Given the description of an element on the screen output the (x, y) to click on. 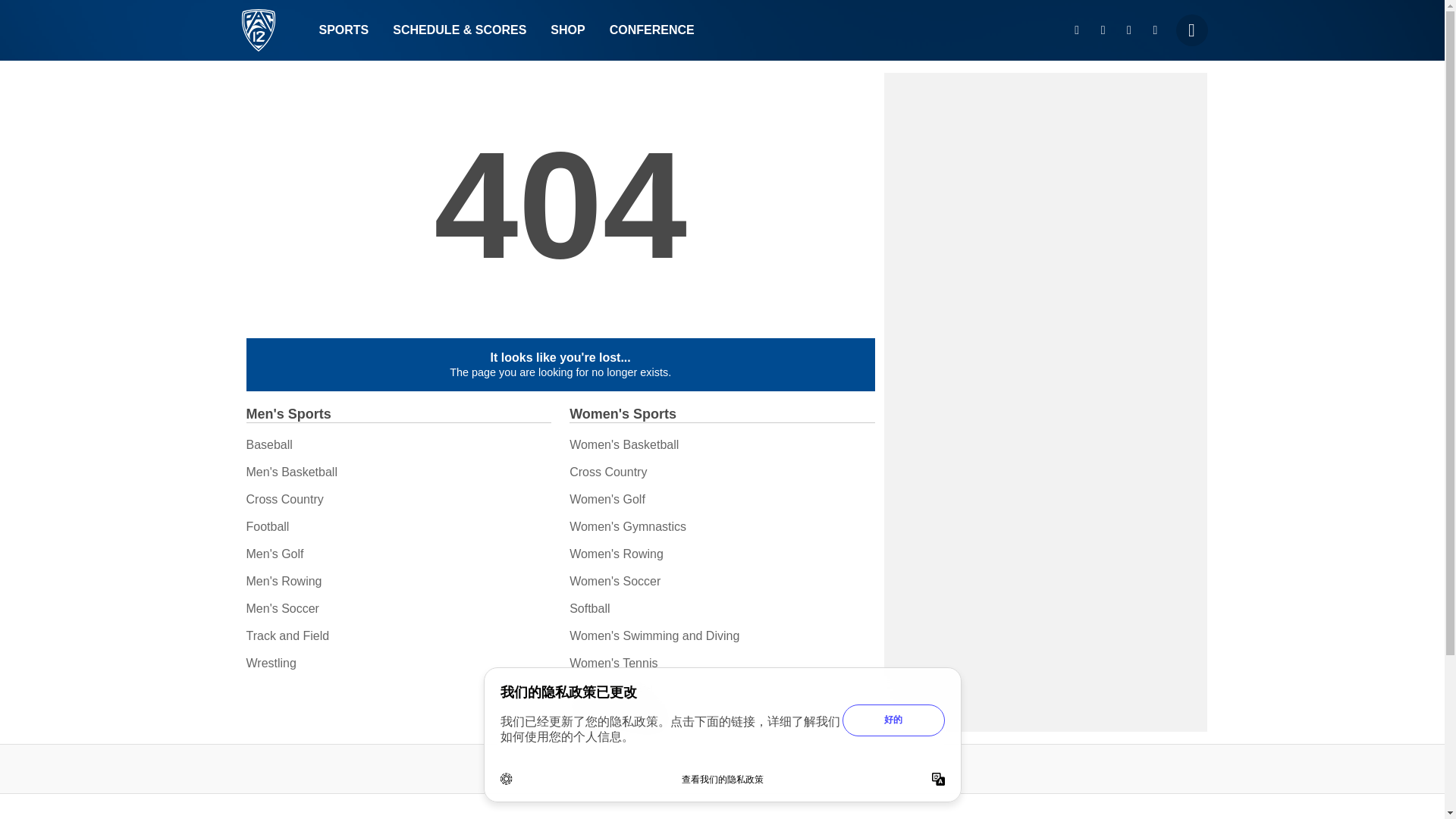
Twitter (1102, 29)
Facebook (1129, 29)
Instagram (1076, 29)
SHOP (567, 30)
TikTok (1155, 29)
CONFERENCE (651, 30)
SPORTS (342, 30)
